Given the description of an element on the screen output the (x, y) to click on. 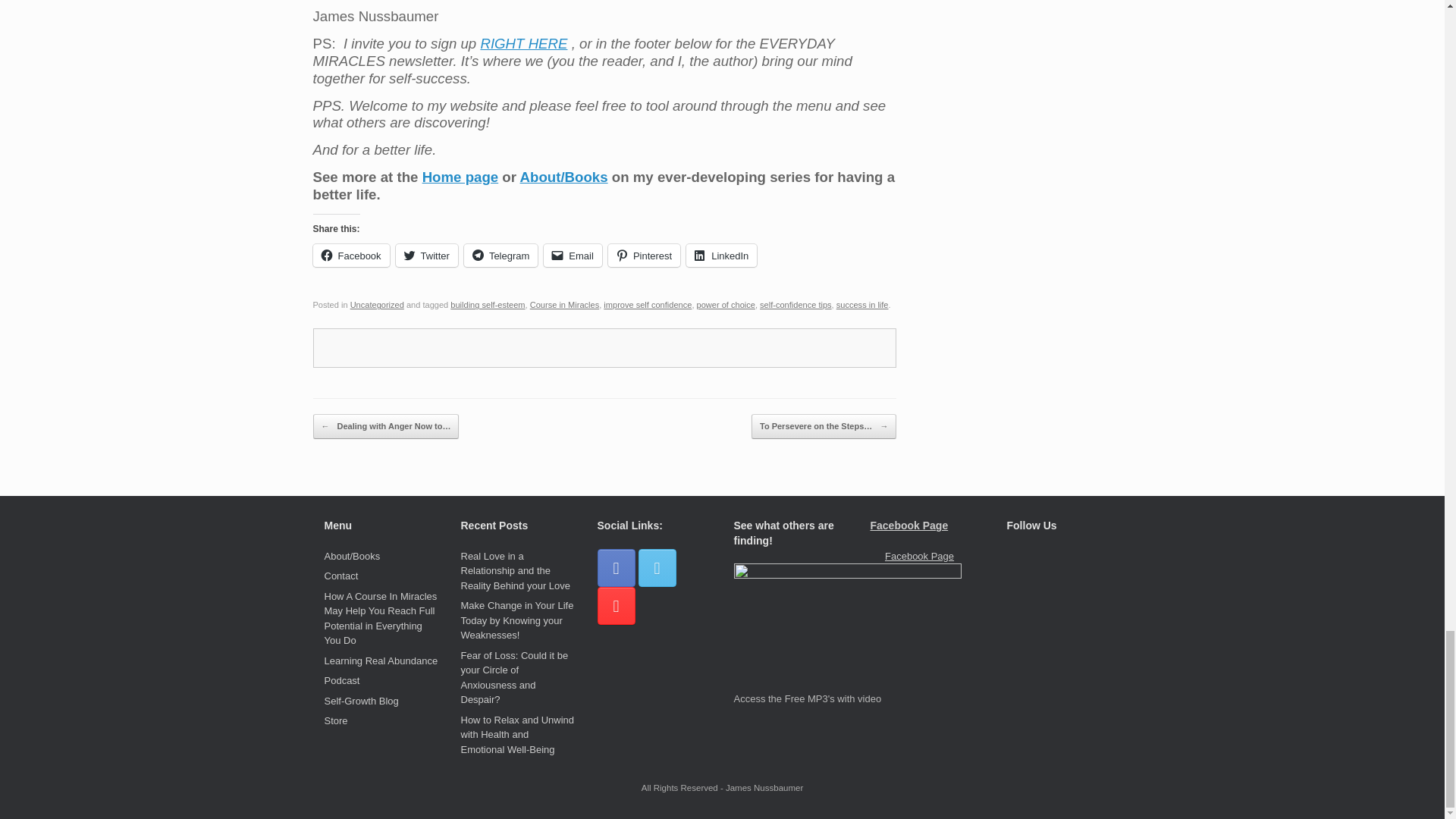
self-confidence tips (795, 304)
LinkedIn (721, 255)
Home page (460, 176)
Click to email a link to a friend (572, 255)
Facebook (350, 255)
improve self confidence (647, 304)
building self-esteem (486, 304)
Click to share on Twitter (427, 255)
Click to share on Pinterest (643, 255)
RIGHT HERE (523, 43)
